Given the description of an element on the screen output the (x, y) to click on. 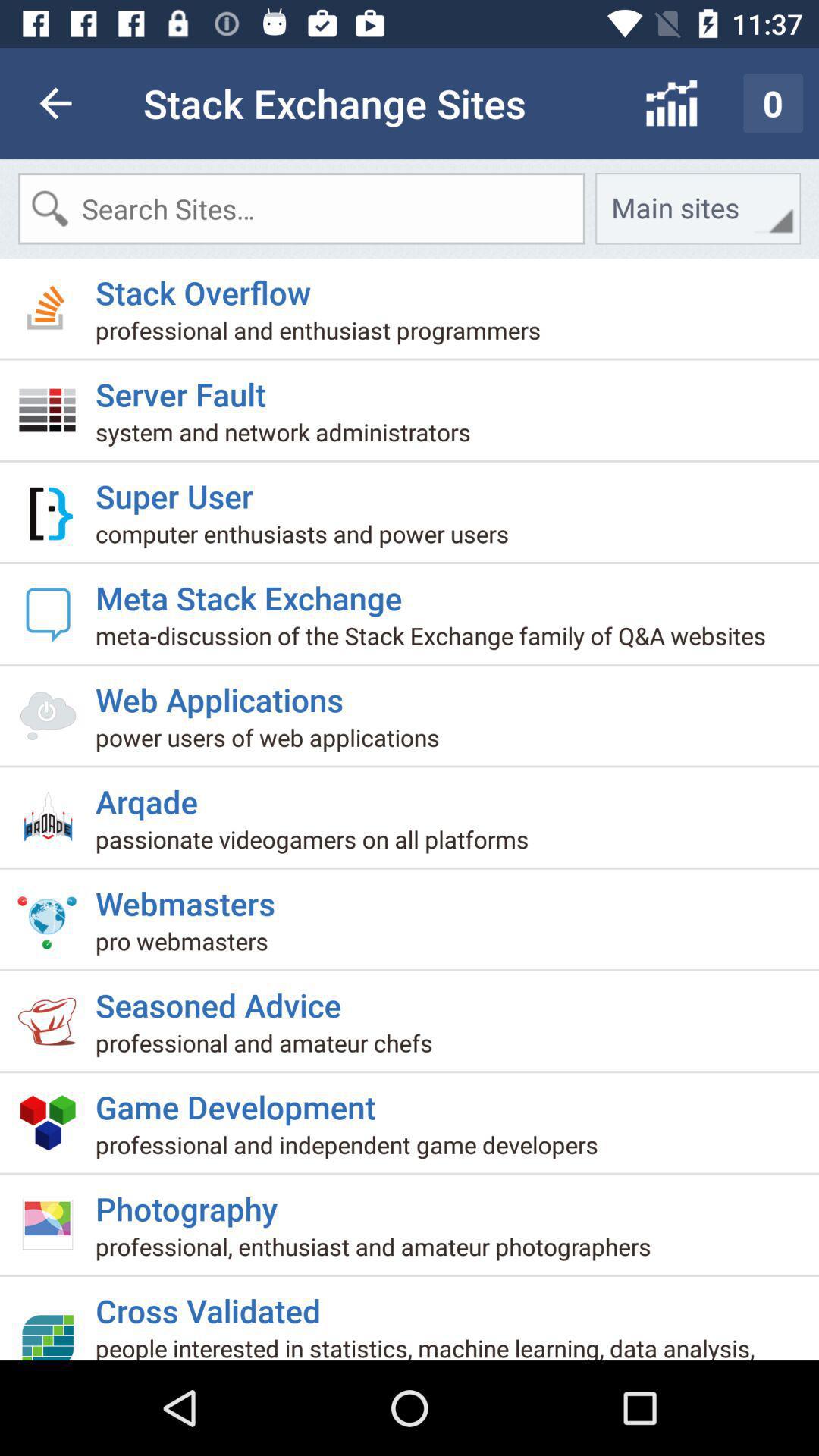
click the item below the meta stack exchange item (436, 641)
